Given the description of an element on the screen output the (x, y) to click on. 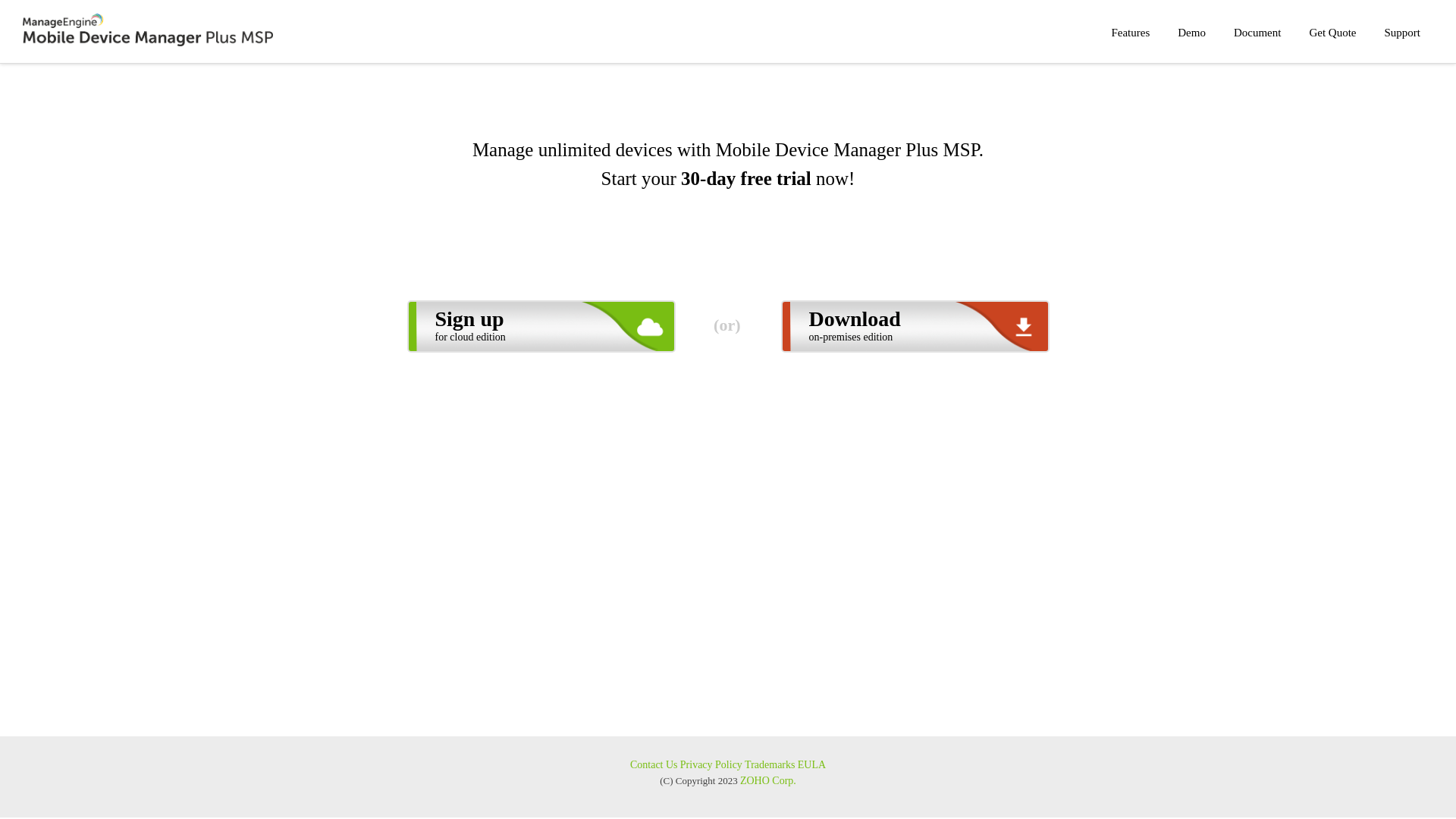
Document Element type: text (1256, 32)
Get Quote Element type: text (1331, 32)
Features Element type: text (1130, 32)
Support Element type: text (1402, 32)
Privacy Policy Element type: text (711, 764)
Demo Element type: text (1191, 32)
Contact Us Element type: text (653, 764)
Trademarks Element type: text (769, 764)
EULA Element type: text (811, 764)
ZOHO Corp. Element type: text (768, 780)
true Element type: text (456, 730)
